Given the description of an element on the screen output the (x, y) to click on. 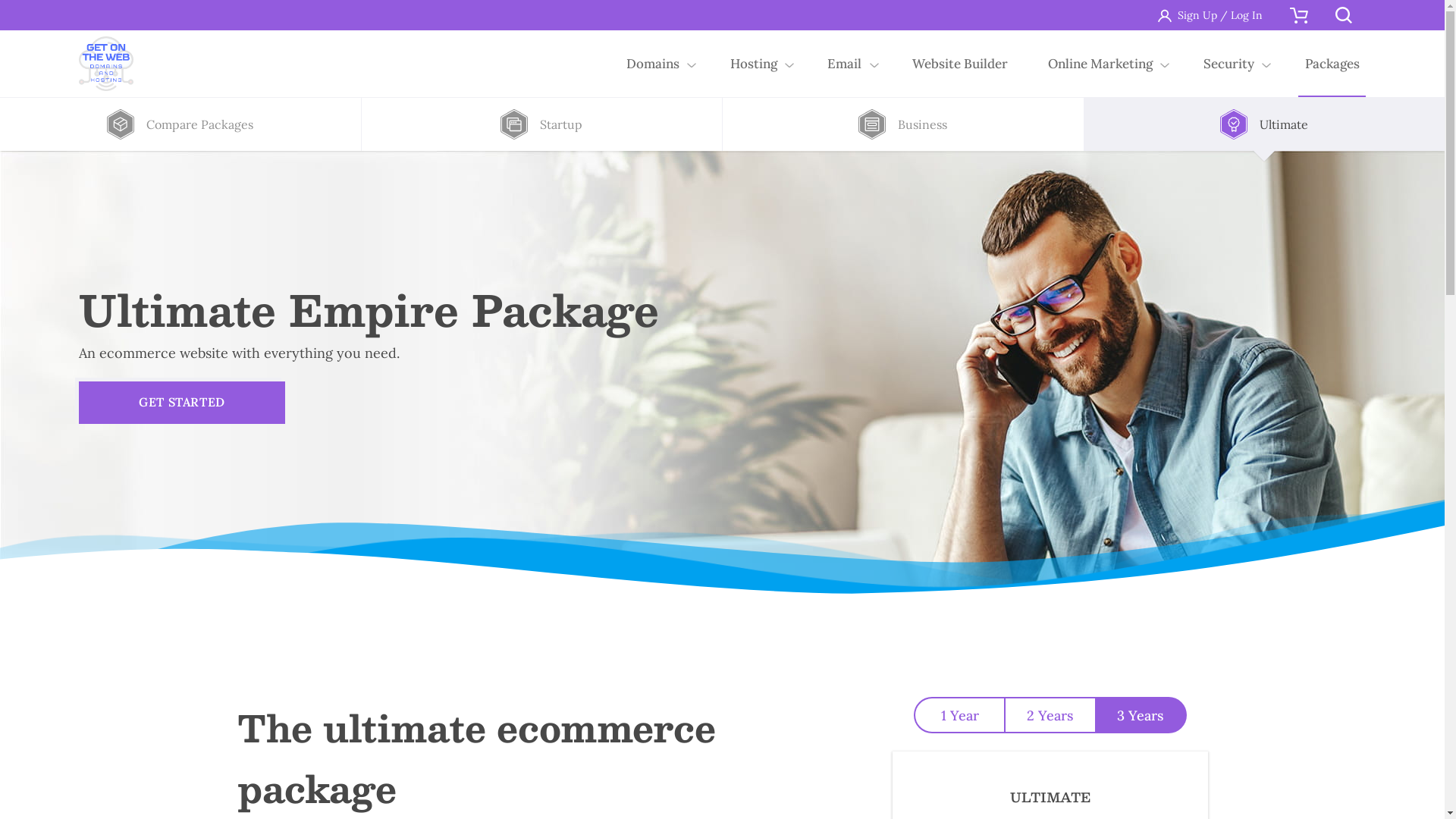
Ultimate Element type: text (1264, 123)
Domains Element type: text (653, 63)
Packages Element type: text (1331, 63)
Security Element type: text (1228, 63)
GET STARTED Element type: text (181, 401)
logo Element type: hover (105, 63)
Compare Packages Element type: text (180, 123)
Business Element type: text (902, 123)
Email Element type: text (844, 63)
Startup Element type: text (541, 123)
Hosting Element type: text (753, 63)
Online Marketing Element type: text (1100, 63)
Website Builder Element type: text (960, 63)
